Given the description of an element on the screen output the (x, y) to click on. 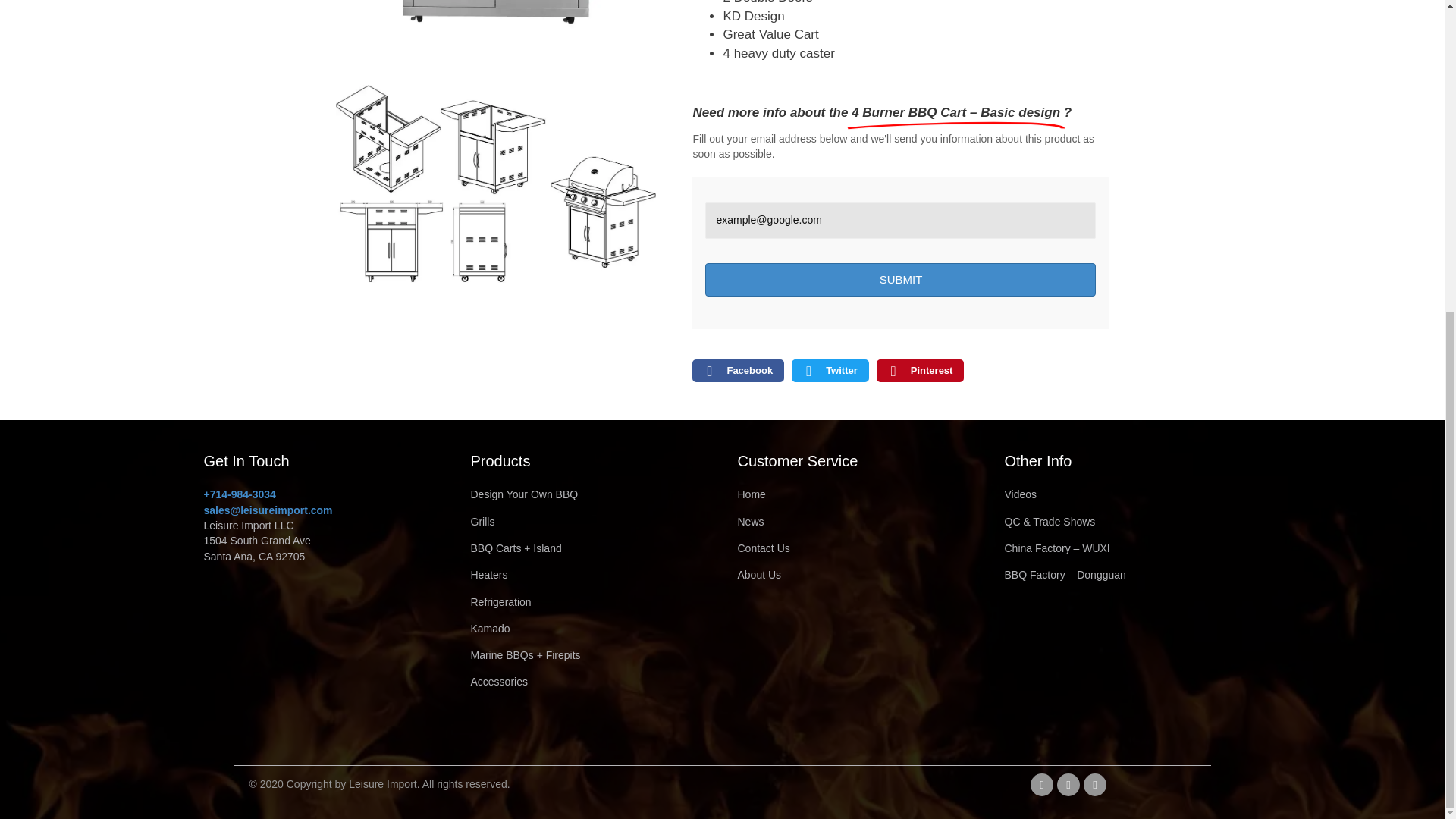
BLZ-4-Cart-Only (494, 38)
Submit (900, 279)
Facebook (1041, 784)
Google Plus (1094, 784)
BBQ-CART-Line-Drawings (494, 183)
Twitter (1068, 784)
